Given the description of an element on the screen output the (x, y) to click on. 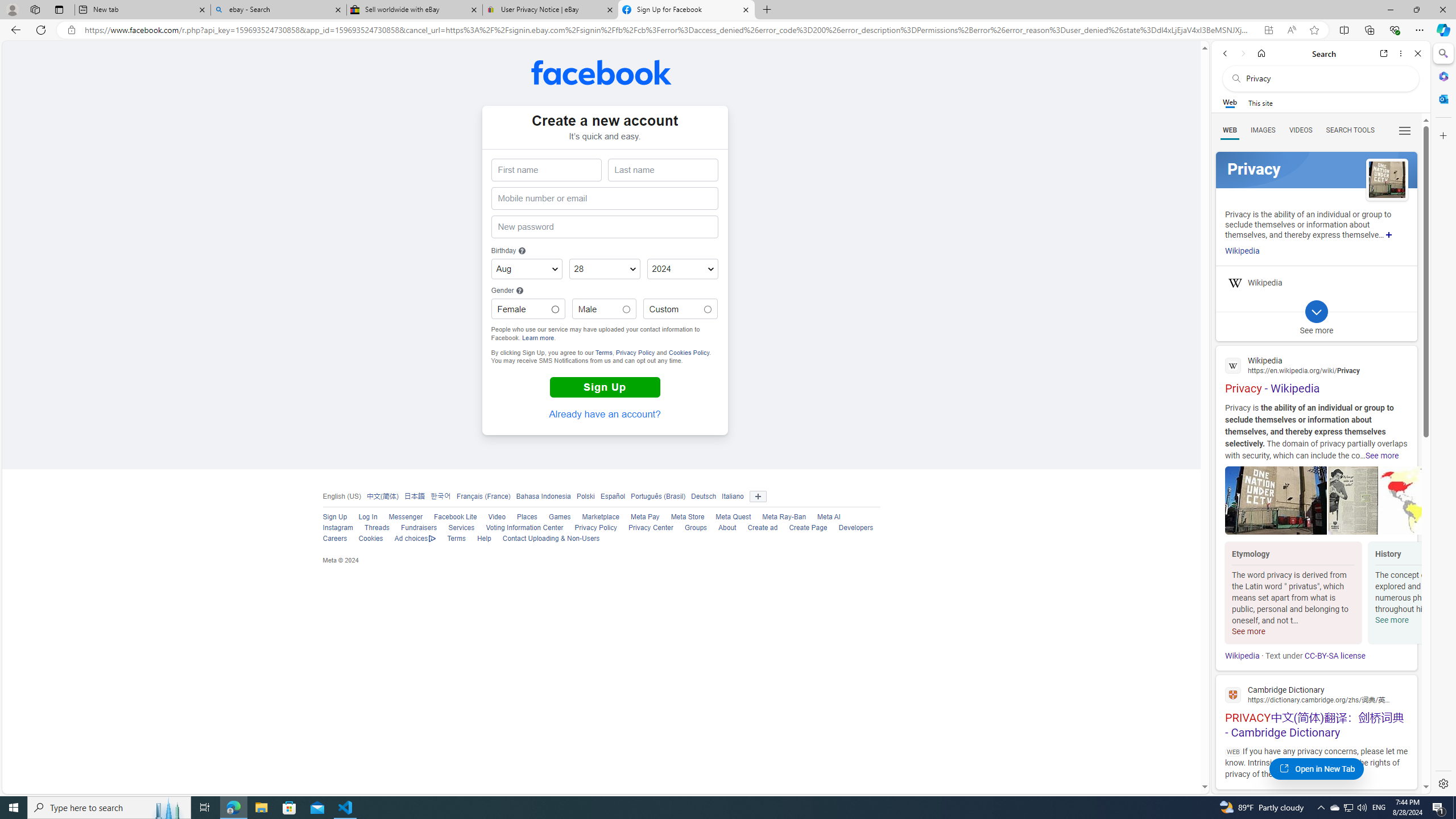
WEB   (1230, 130)
Video (496, 516)
Meta Quest (727, 517)
Global web icon (1232, 694)
Ad choices (409, 538)
Careers (334, 538)
Help (484, 538)
Messenger (399, 517)
Italiano (730, 496)
Polski (585, 496)
AutomationID: sex (707, 309)
Search Filter, VIDEOS (1300, 129)
Customize (1442, 135)
